Given the description of an element on the screen output the (x, y) to click on. 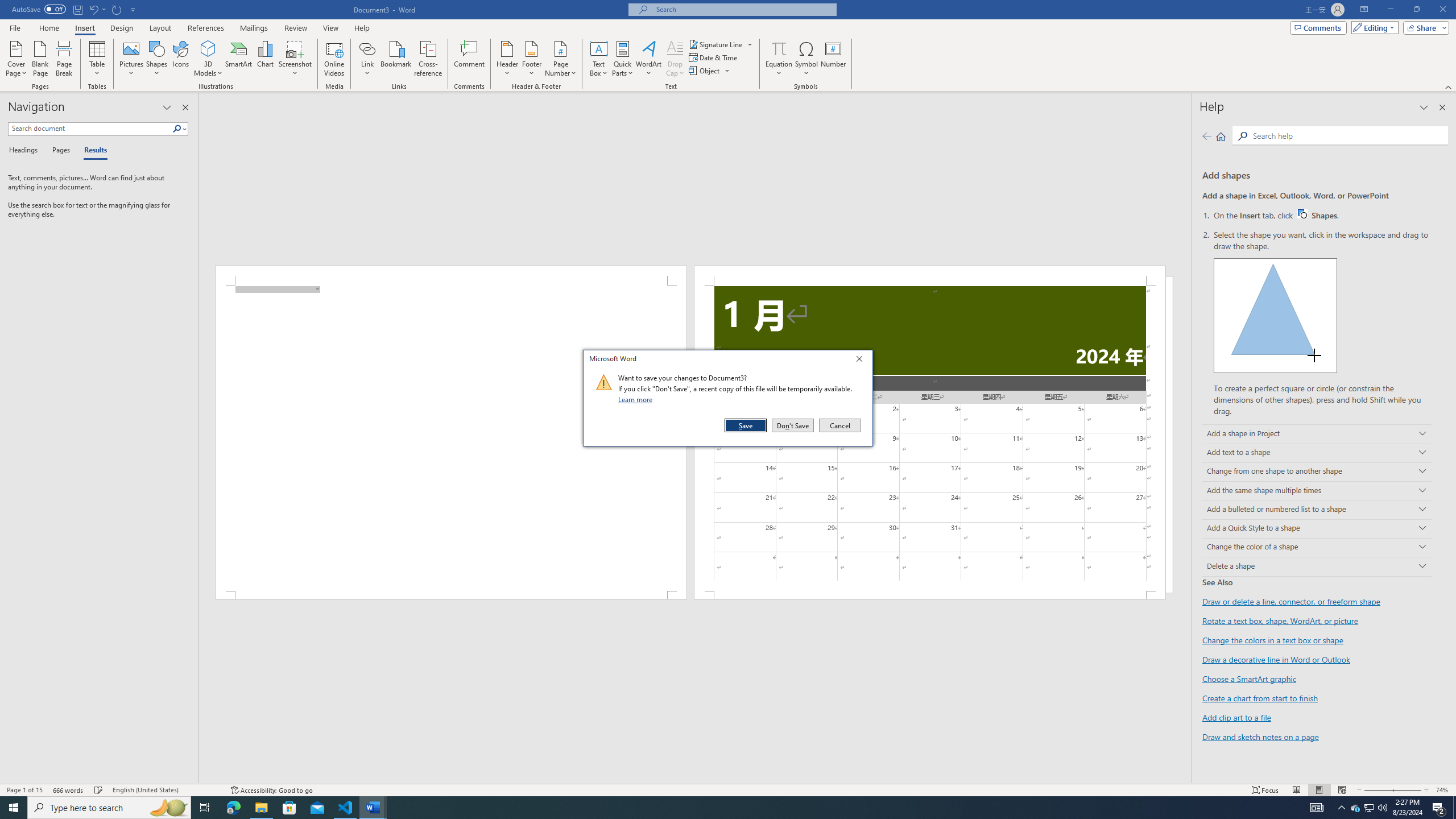
Word W32 Shapes button icon (1302, 213)
Search (177, 128)
Create a chart from start to finish (1259, 697)
Add a Quick Style to a shape (1316, 529)
Delete a shape (1316, 566)
Online Videos... (333, 58)
Task View (204, 807)
Rotate a text box, shape, WordArt, or picture (1280, 620)
WordArt (648, 58)
User Promoted Notification Area (1368, 807)
Word - 2 running windows (373, 807)
Microsoft Store (289, 807)
Pictures (131, 58)
Close pane (185, 107)
